Given the description of an element on the screen output the (x, y) to click on. 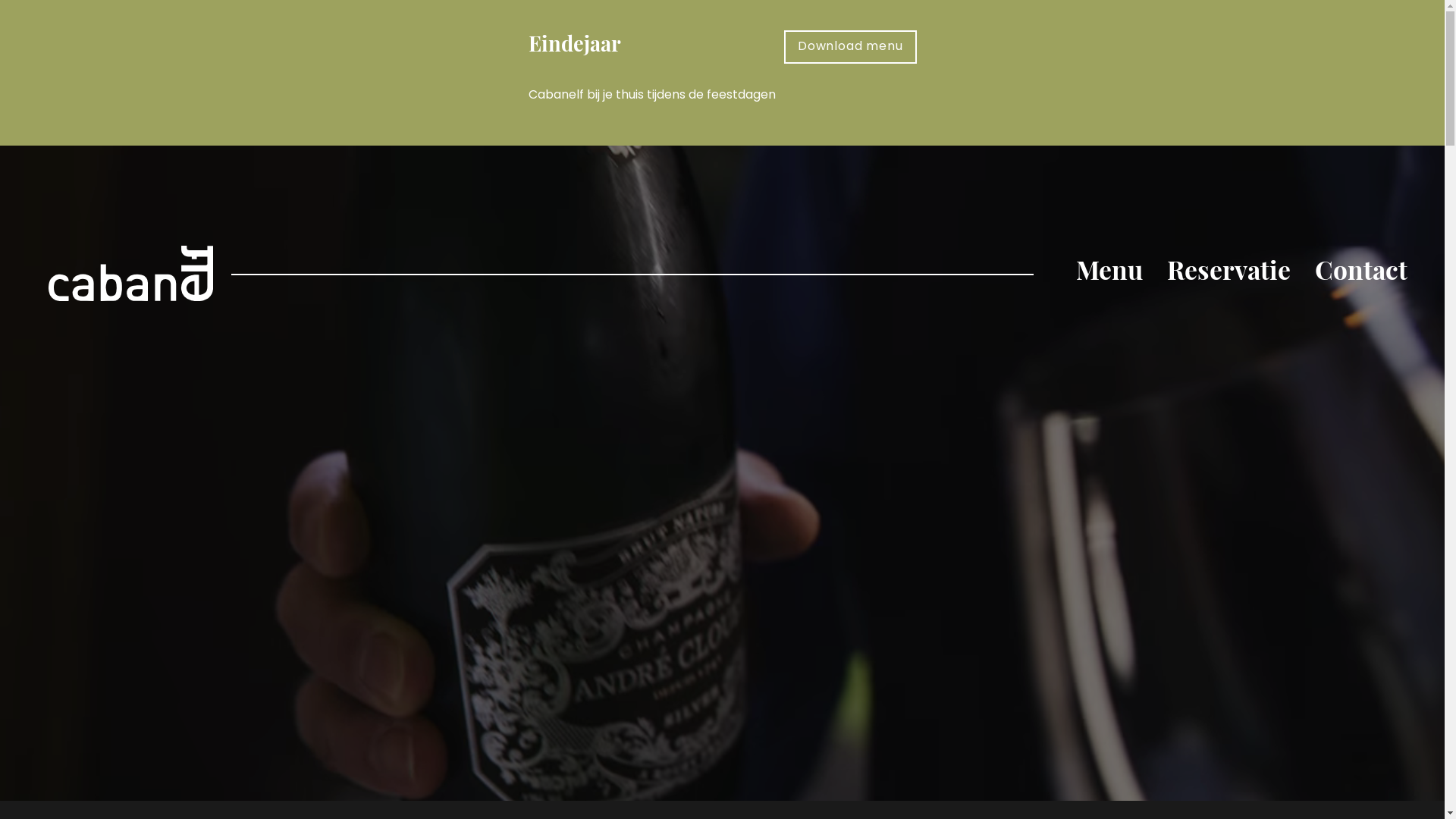
Download menu Element type: text (850, 46)
Reservatie Element type: text (1228, 272)
Menu Element type: text (1109, 272)
Contact Element type: text (1360, 272)
